Given the description of an element on the screen output the (x, y) to click on. 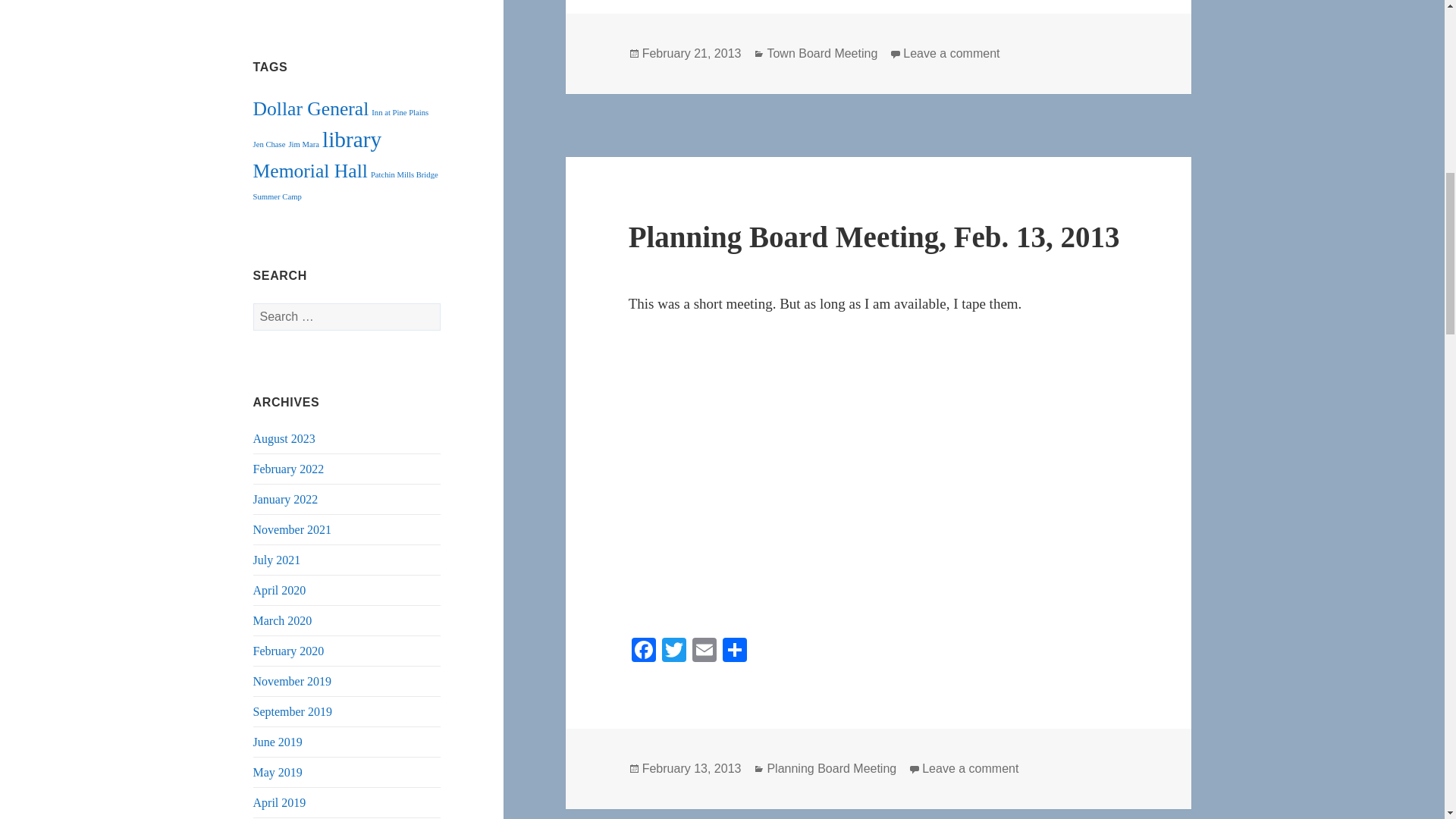
September 2019 (292, 711)
Patchin Mills Bridge (404, 174)
November 2021 (292, 529)
March 2020 (283, 620)
July 2021 (277, 559)
April 2019 (279, 802)
Jen Chase (269, 144)
November 2019 (292, 680)
